Given the description of an element on the screen output the (x, y) to click on. 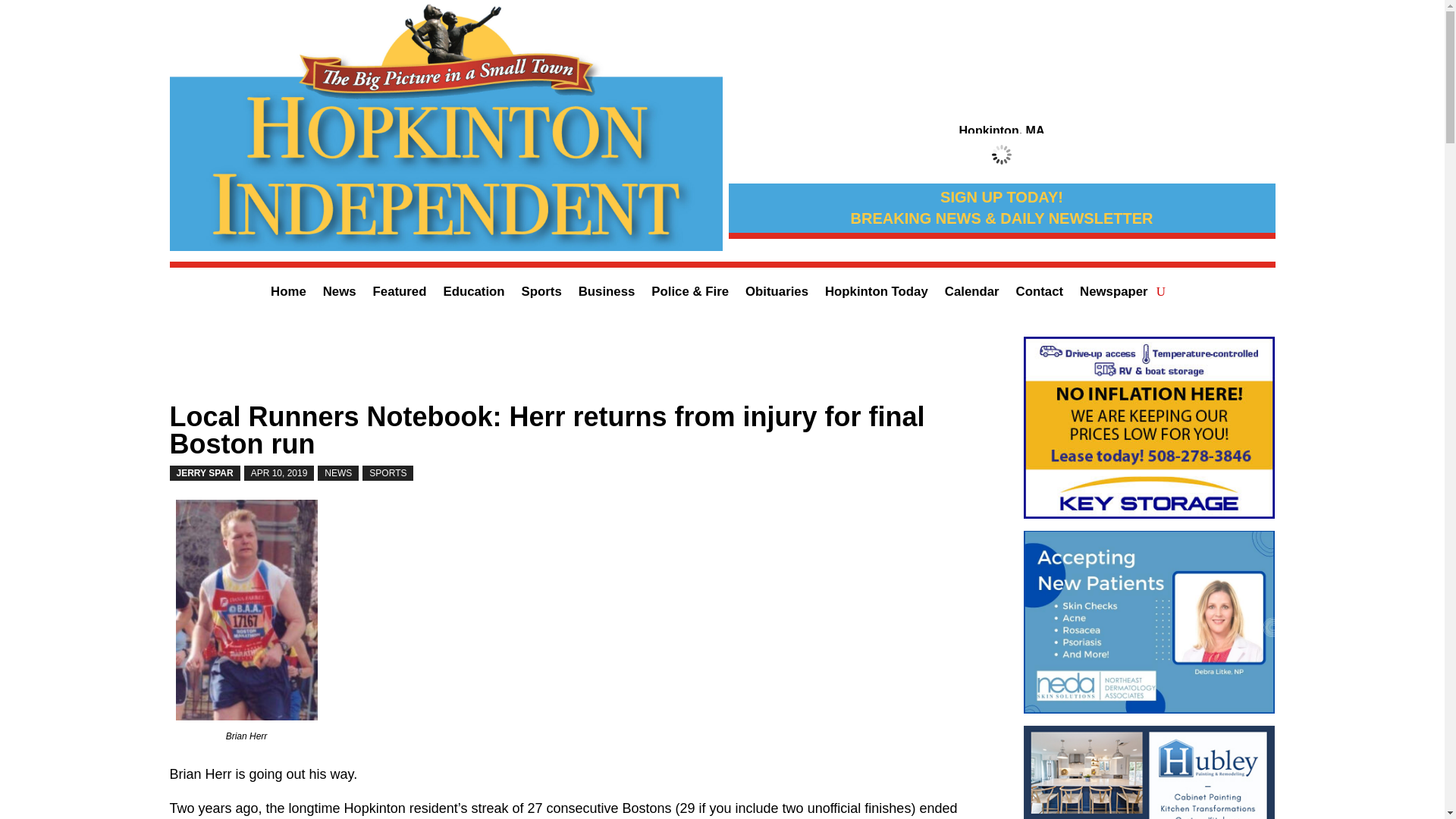
Posts by Jerry Spar (205, 473)
News (339, 294)
SPORTS (387, 473)
NEWS (337, 473)
Obituaries (776, 294)
Business (606, 294)
Sports (541, 294)
JERRY SPAR (205, 473)
Home (287, 294)
Featured (399, 294)
Contact (1039, 294)
Hopkinton Today (876, 294)
Calendar (971, 294)
Education (472, 294)
Newspaper (1114, 294)
